Given the description of an element on the screen output the (x, y) to click on. 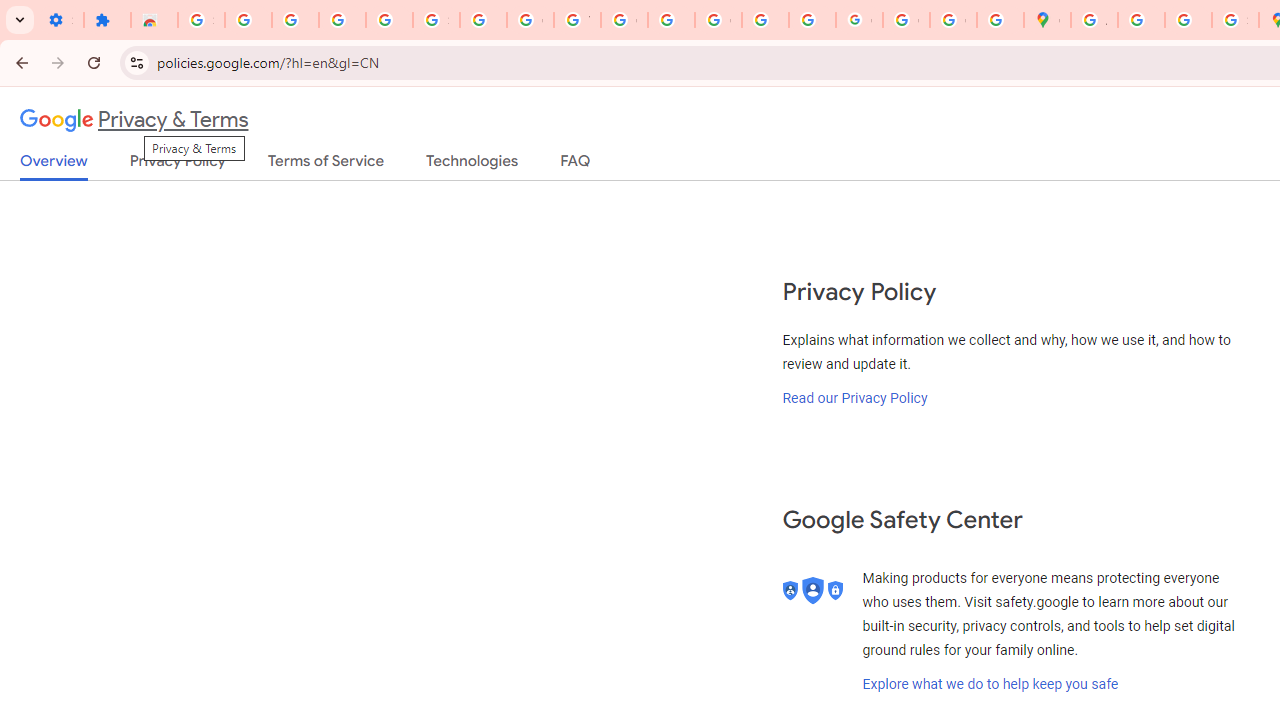
Read our Privacy Policy (855, 397)
Settings - On startup (60, 20)
Learn how to find your photos - Google Photos Help (342, 20)
Technologies (472, 165)
Terms of Service (326, 165)
